Given the description of an element on the screen output the (x, y) to click on. 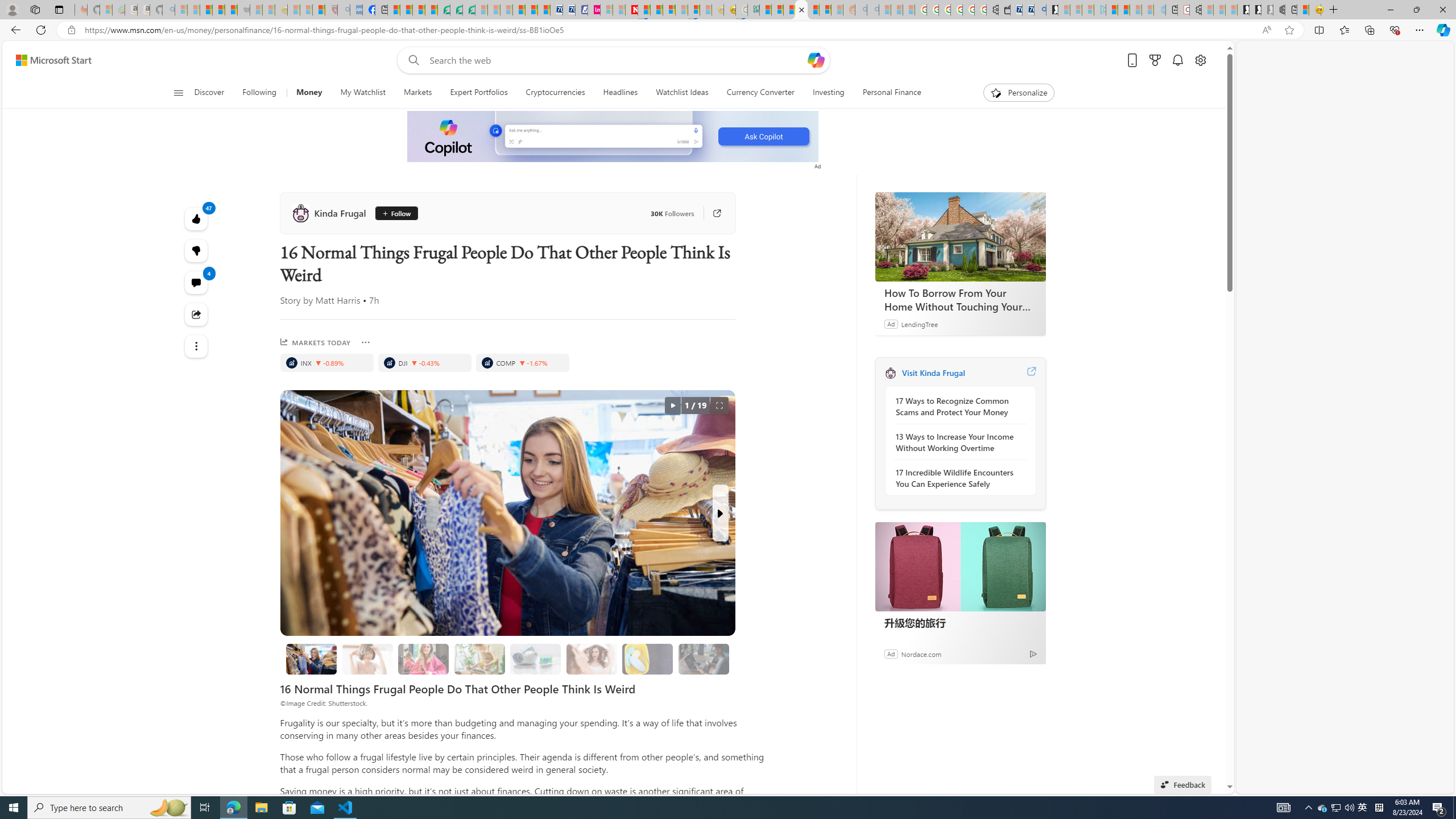
COMP, NASDAQ. Price is 17,619.35. Decreased by -1.67% (522, 362)
Headlines (619, 92)
8. Thrift Shopping (311, 658)
13 Ways to Increase Your Income Without Working Overtime (957, 441)
autorotate button (672, 405)
